Given the description of an element on the screen output the (x, y) to click on. 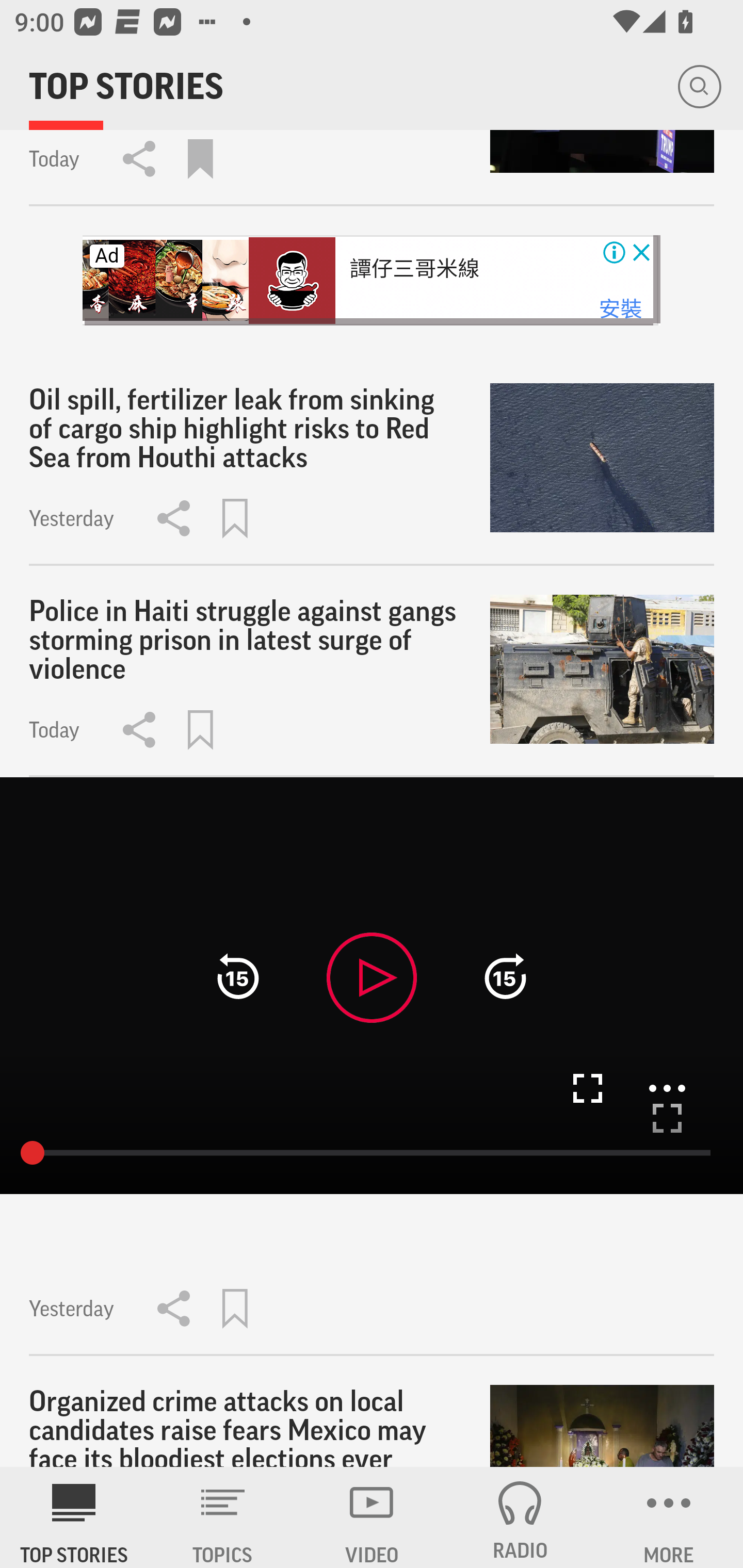
譚仔三哥米線 (414, 268)
安裝 (620, 309)
Rewind 15 seconds (238, 977)
Play (371, 977)
fast forward 15 seconds (504, 977)
Fullscreen (587, 1087)
menu (666, 1087)
Fullscreen (666, 1117)
AP News TOP STORIES (74, 1517)
TOPICS (222, 1517)
VIDEO (371, 1517)
RADIO (519, 1517)
MORE (668, 1517)
